Given the description of an element on the screen output the (x, y) to click on. 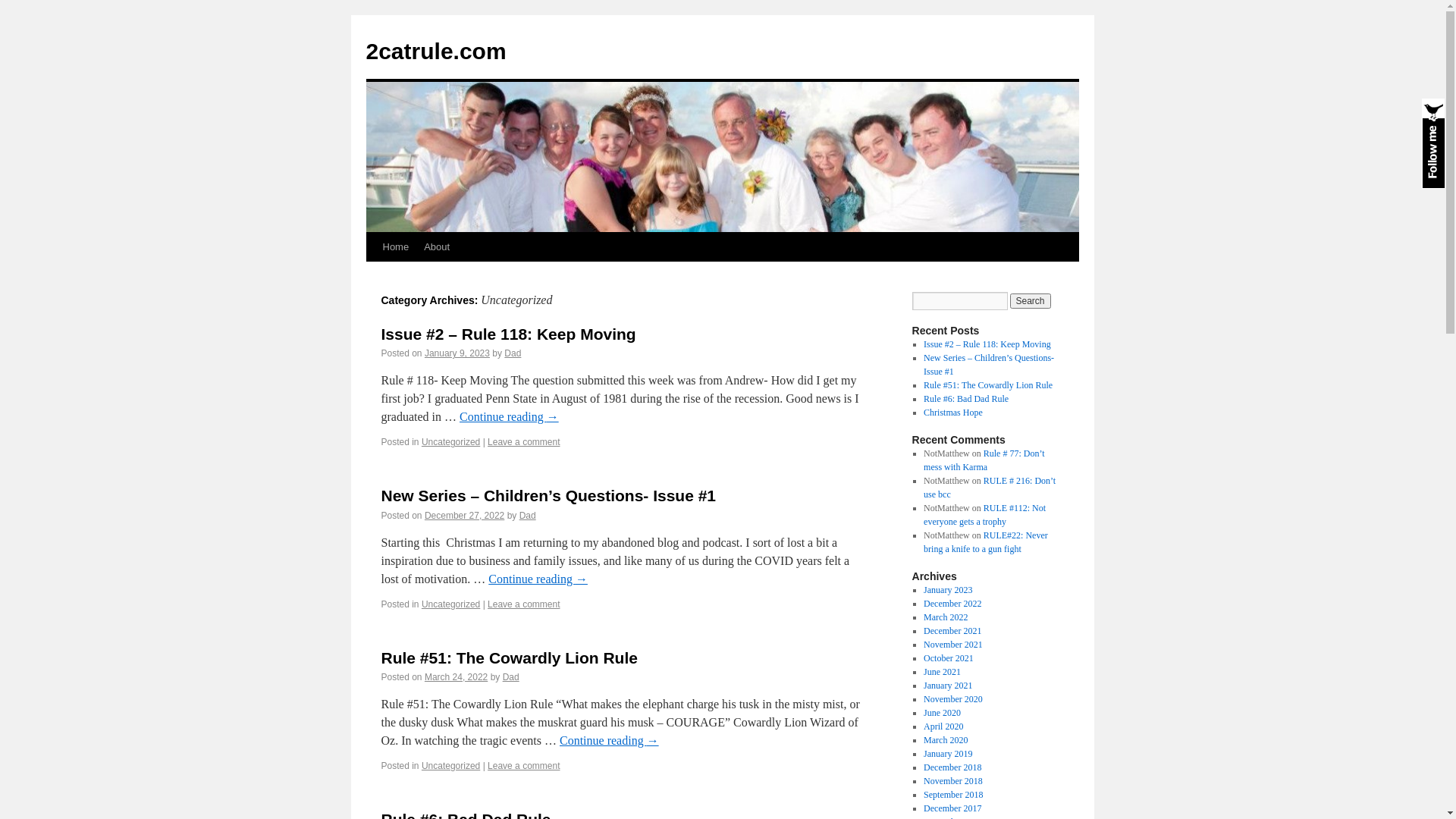
November 2021 Element type: text (952, 644)
Uncategorized Element type: text (450, 765)
Rule #6: Bad Dad Rule Element type: text (965, 398)
Dad Element type: text (527, 515)
Dad Element type: text (512, 353)
Uncategorized Element type: text (450, 604)
December 2022 Element type: text (952, 603)
June 2020 Element type: text (941, 712)
March 24, 2022 Element type: text (455, 676)
September 2018 Element type: text (952, 794)
January 9, 2023 Element type: text (456, 353)
January 2021 Element type: text (947, 685)
RULE #112: Not everyone gets a trophy Element type: text (984, 514)
March 2020 Element type: text (945, 739)
April 2020 Element type: text (943, 726)
January 2023 Element type: text (947, 589)
January 2019 Element type: text (947, 753)
Leave a comment Element type: text (523, 765)
Rule #51: The Cowardly Lion Rule Element type: text (508, 657)
November 2020 Element type: text (952, 698)
Search Element type: text (1030, 300)
Rule #51: The Cowardly Lion Rule Element type: text (987, 384)
Leave a comment Element type: text (523, 441)
RULE#22: Never bring a knife to a gun fight Element type: text (985, 542)
Dad Element type: text (510, 676)
December 2018 Element type: text (952, 767)
2catrule.com Element type: text (435, 50)
March 2022 Element type: text (945, 616)
December 27, 2022 Element type: text (464, 515)
Uncategorized Element type: text (450, 441)
December 2021 Element type: text (952, 630)
November 2018 Element type: text (952, 780)
About Element type: text (436, 246)
October 2021 Element type: text (948, 657)
Christmas Hope Element type: text (952, 412)
June 2021 Element type: text (941, 671)
December 2017 Element type: text (952, 808)
Home Element type: text (395, 246)
Leave a comment Element type: text (523, 604)
